Given the description of an element on the screen output the (x, y) to click on. 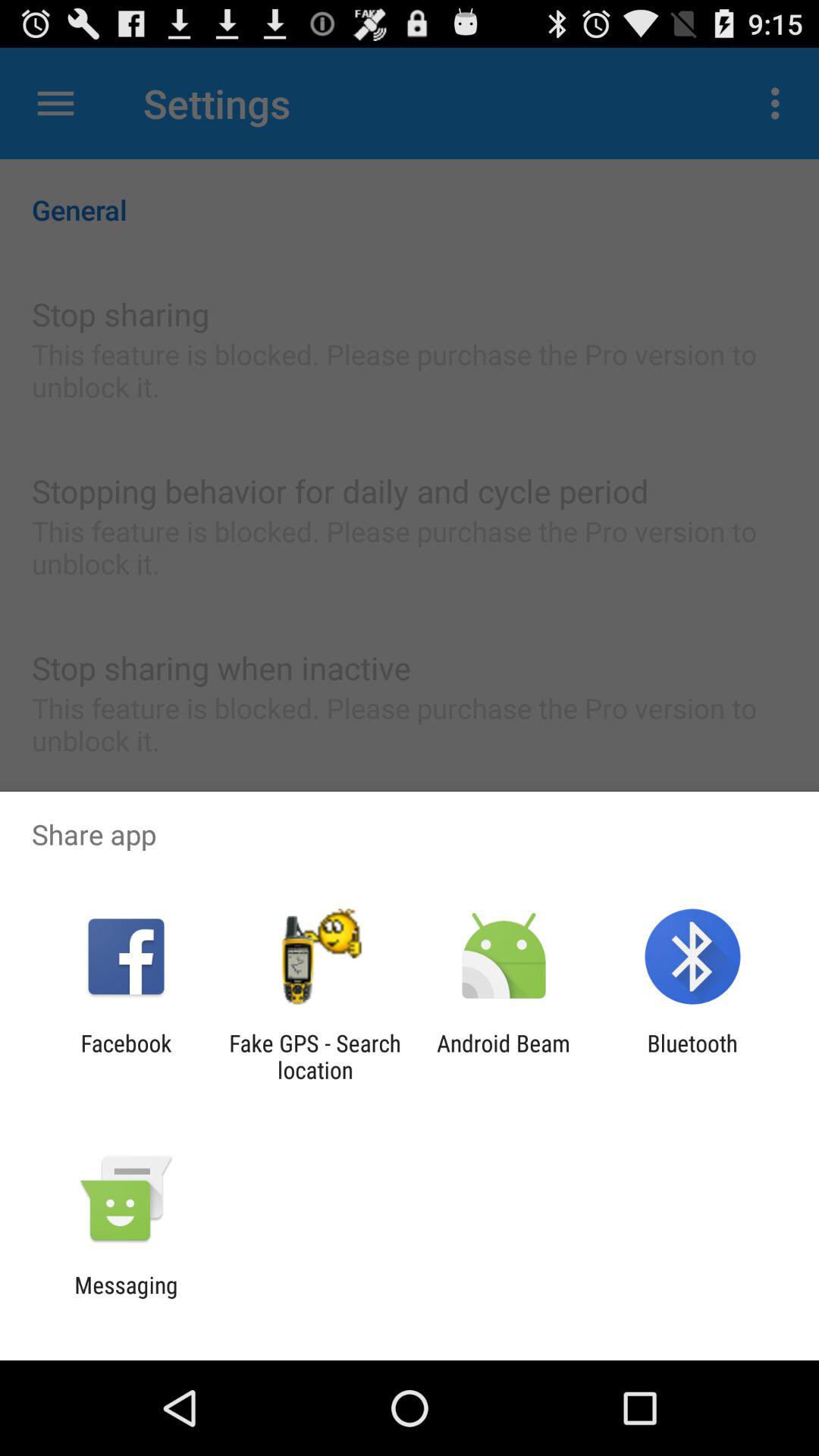
launch item next to the fake gps search app (503, 1056)
